Given the description of an element on the screen output the (x, y) to click on. 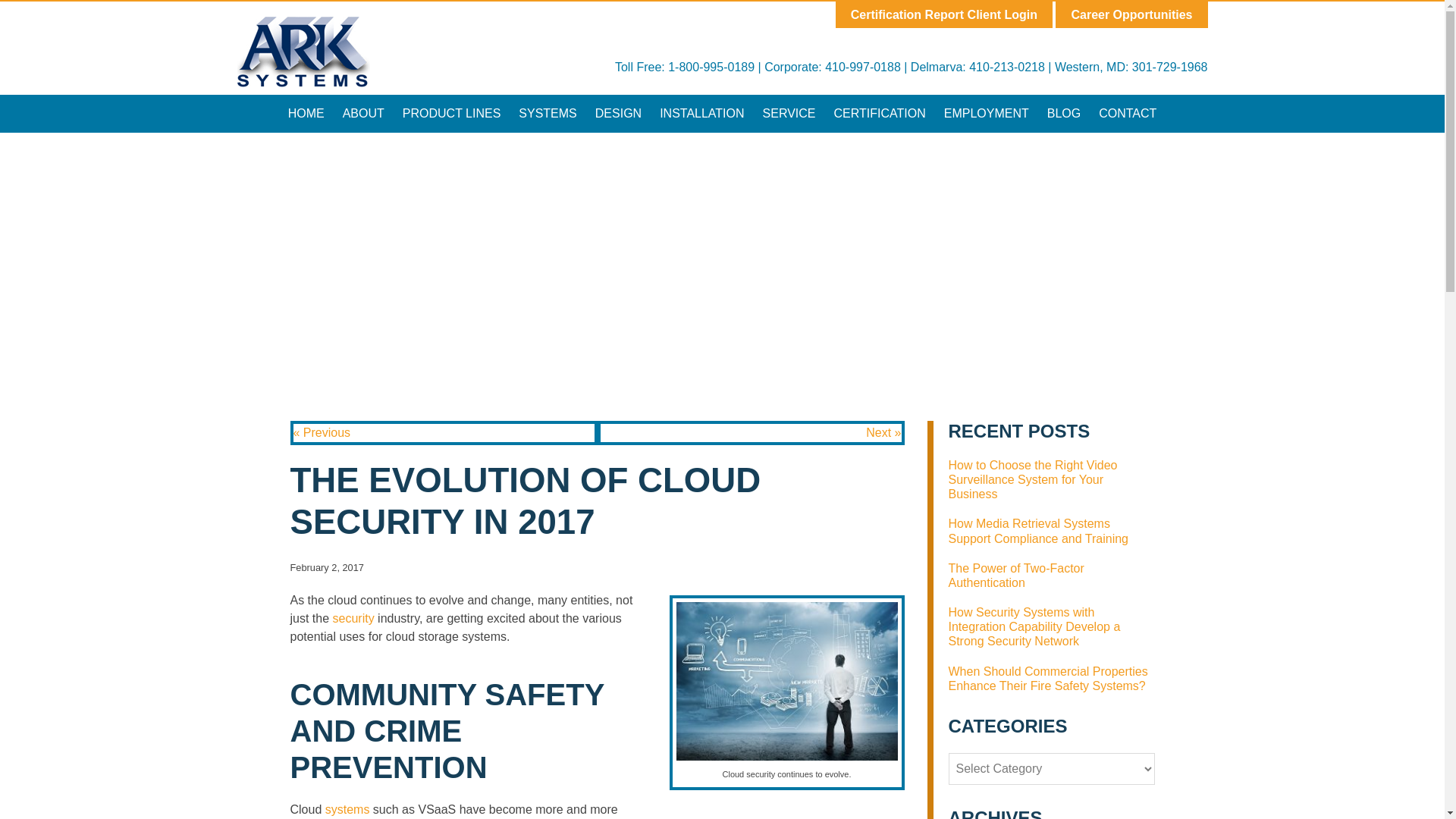
security (355, 617)
CERTIFICATION (879, 113)
ARK Systems (302, 51)
BLOG (1063, 113)
HOME (306, 113)
1-800-995-0189 (711, 66)
ABOUT (363, 113)
PRODUCT LINES (452, 113)
410-997-0188 (863, 66)
301-729-1968 (1170, 66)
